Given the description of an element on the screen output the (x, y) to click on. 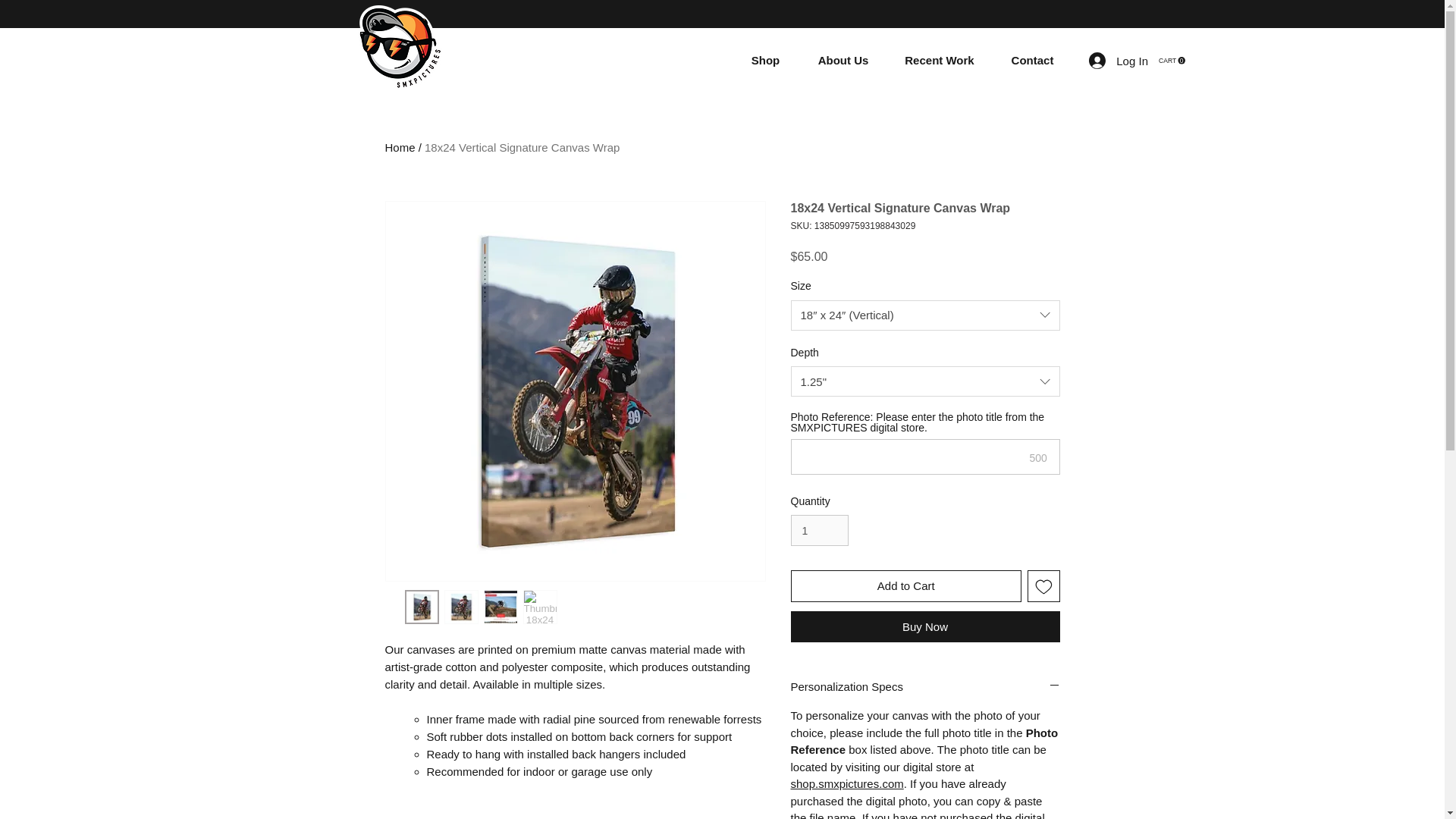
shop.smxpictures.com (846, 783)
Contact (1171, 60)
About Us (1032, 60)
Home (842, 60)
1 (399, 146)
1.25" (818, 530)
Log In (924, 381)
Personalization Specs (1118, 60)
18x24 Vertical Signature Canvas Wrap (924, 686)
Add to Cart (522, 146)
Recent Work (1171, 60)
Buy Now (906, 586)
